Given the description of an element on the screen output the (x, y) to click on. 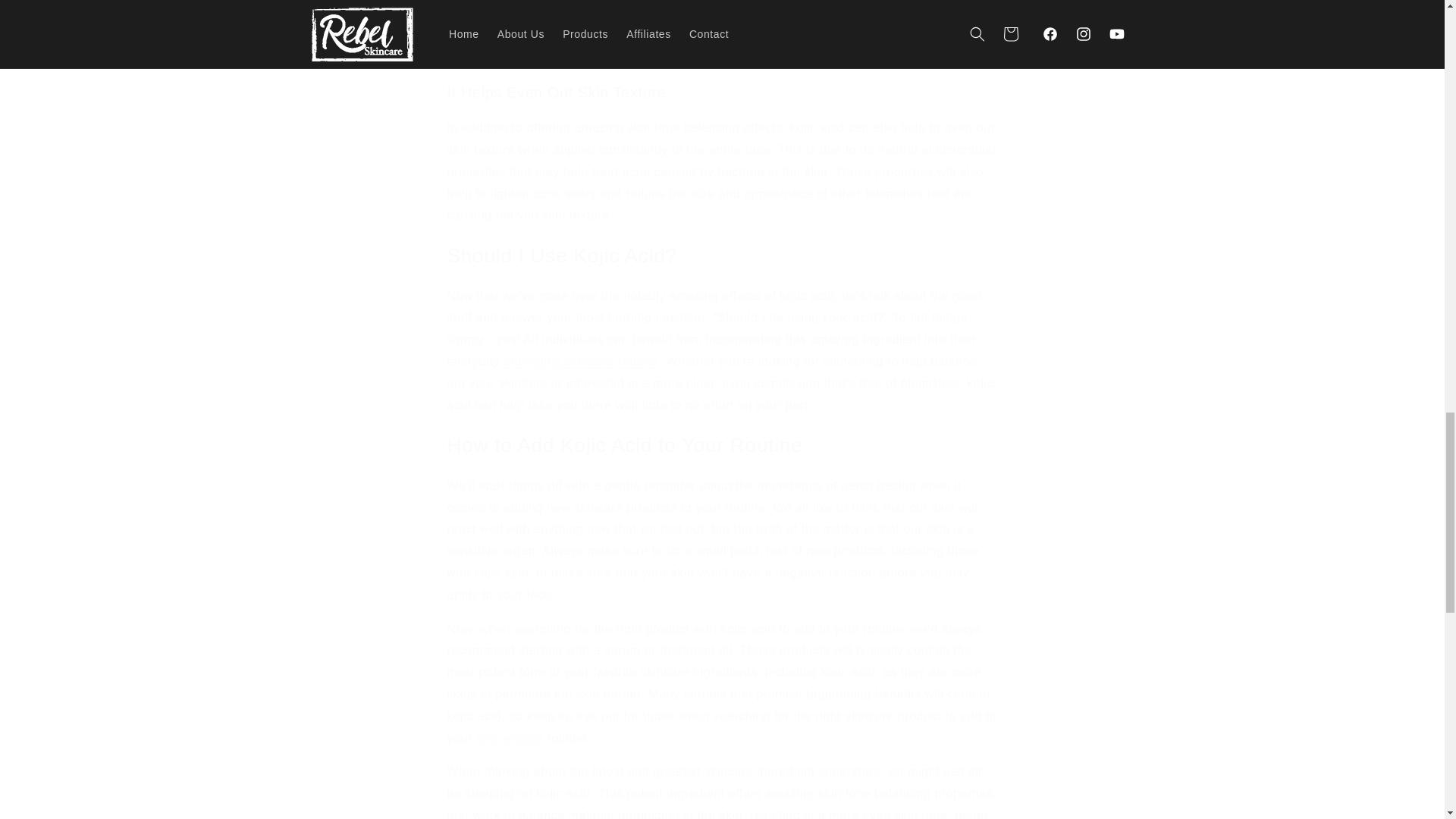
anti-aging skincare routine (580, 360)
anti-wrinkle (509, 738)
anti-aging (475, 56)
